Given the description of an element on the screen output the (x, y) to click on. 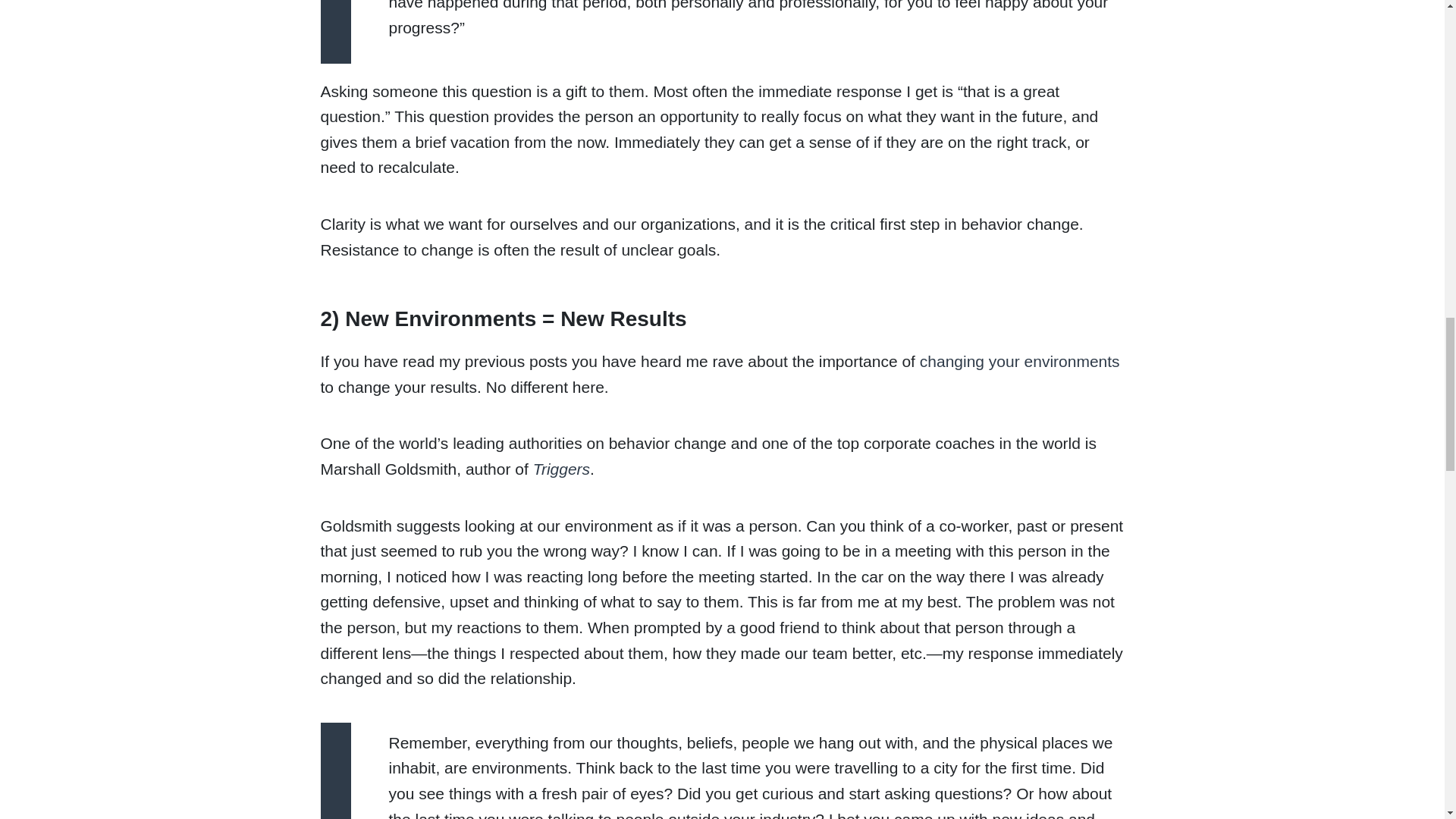
changing your environments (1019, 361)
Triggers (560, 468)
